Given the description of an element on the screen output the (x, y) to click on. 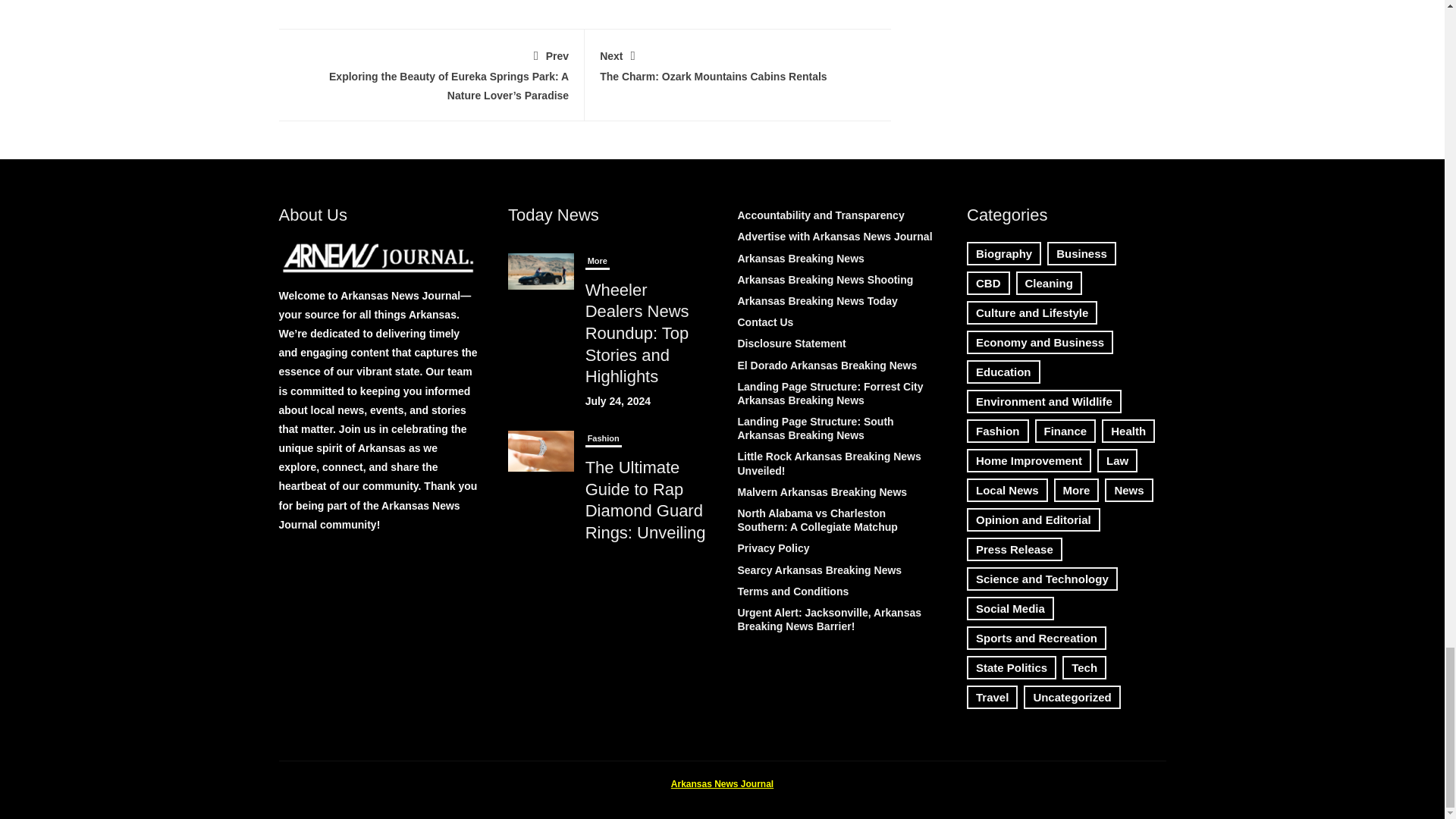
Rap Diamond (540, 450)
Wheeler Dealers News Roundup: Top Stories and Highlights (737, 63)
